Given the description of an element on the screen output the (x, y) to click on. 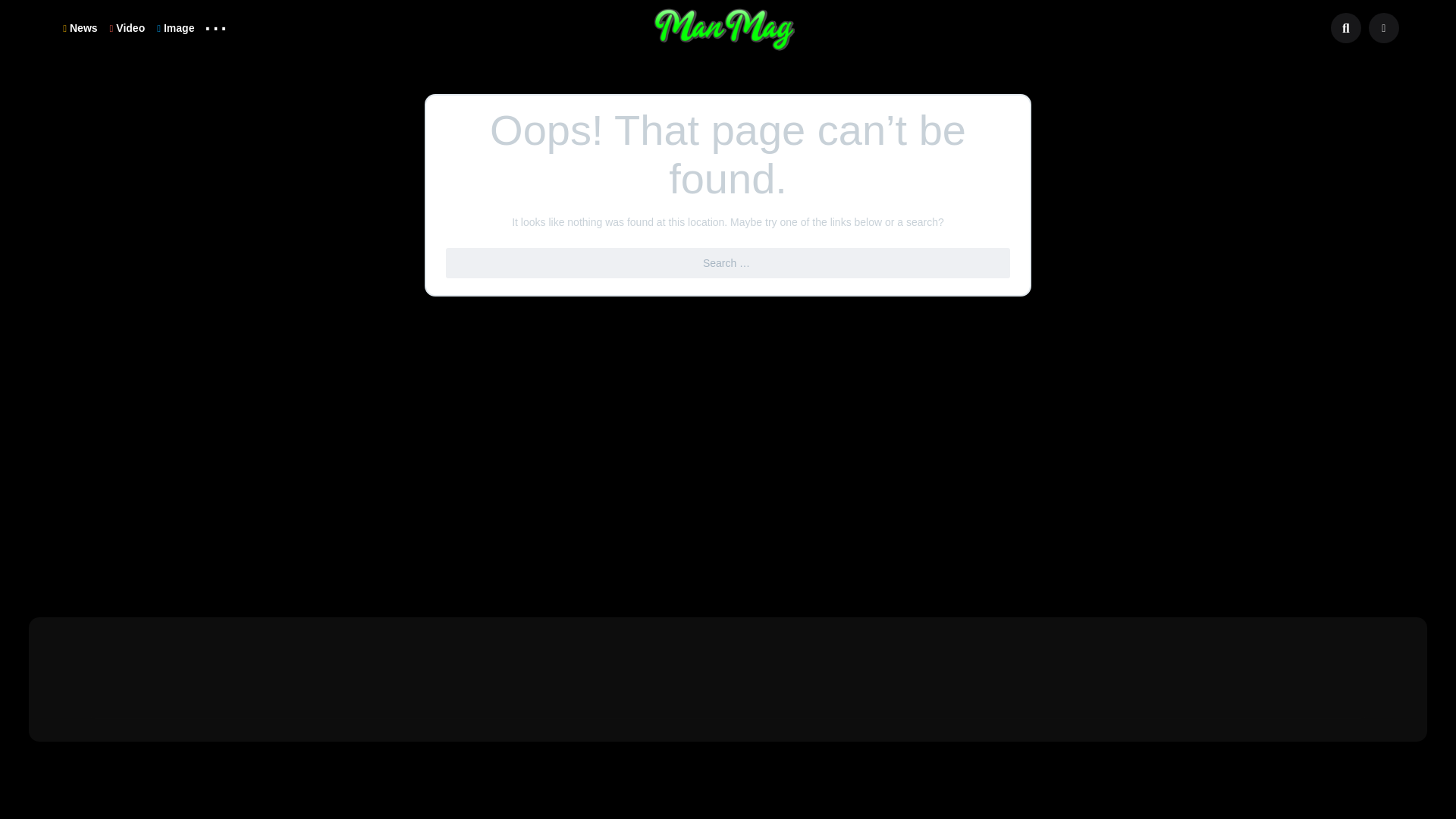
Search (21, 9)
News (79, 27)
Image (175, 27)
Video (127, 27)
